Given the description of an element on the screen output the (x, y) to click on. 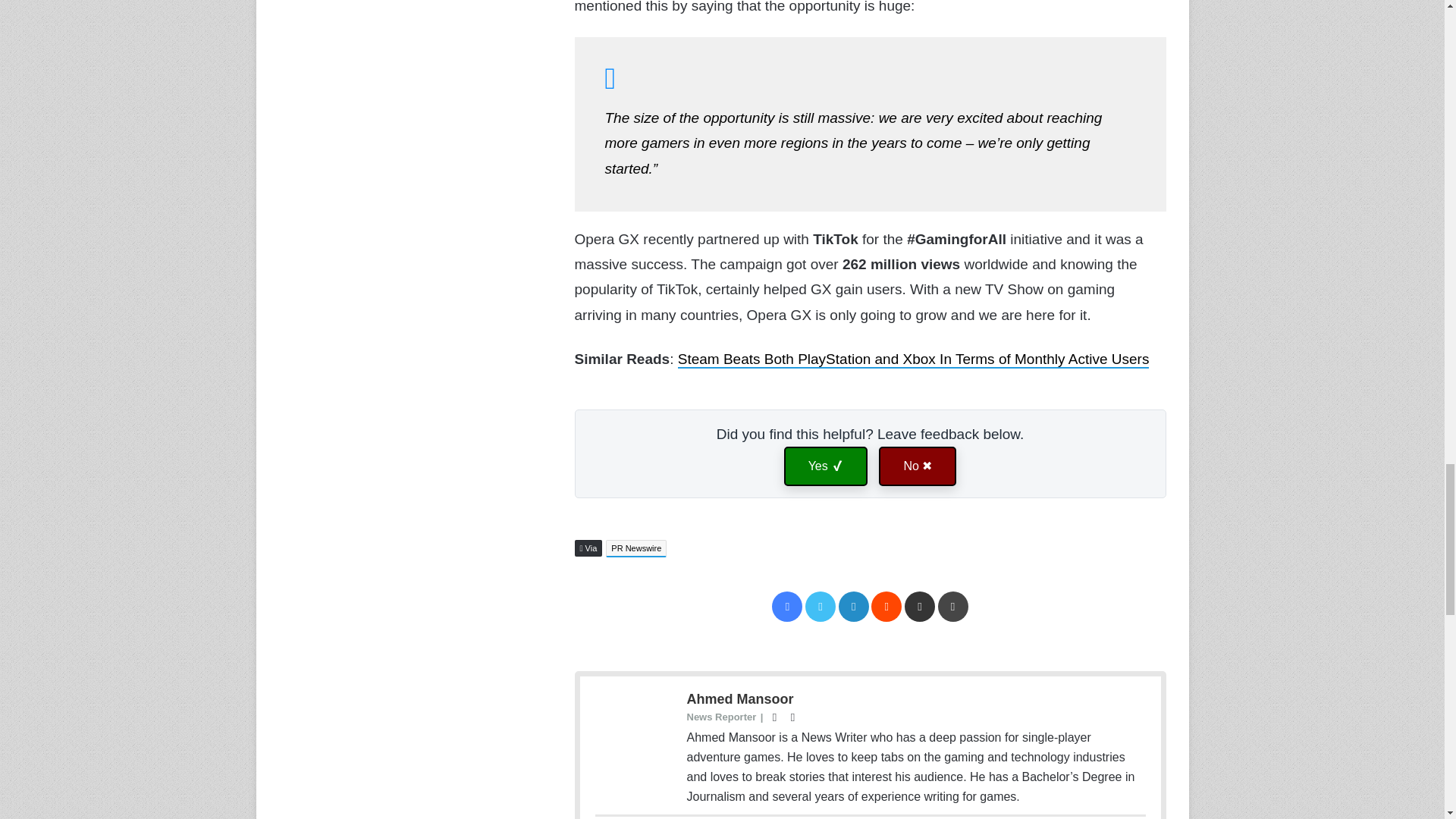
Print (952, 606)
Share via Email (919, 606)
Facebook (786, 606)
Twitter (820, 606)
Reddit (885, 606)
LinkedIn (853, 606)
